Given the description of an element on the screen output the (x, y) to click on. 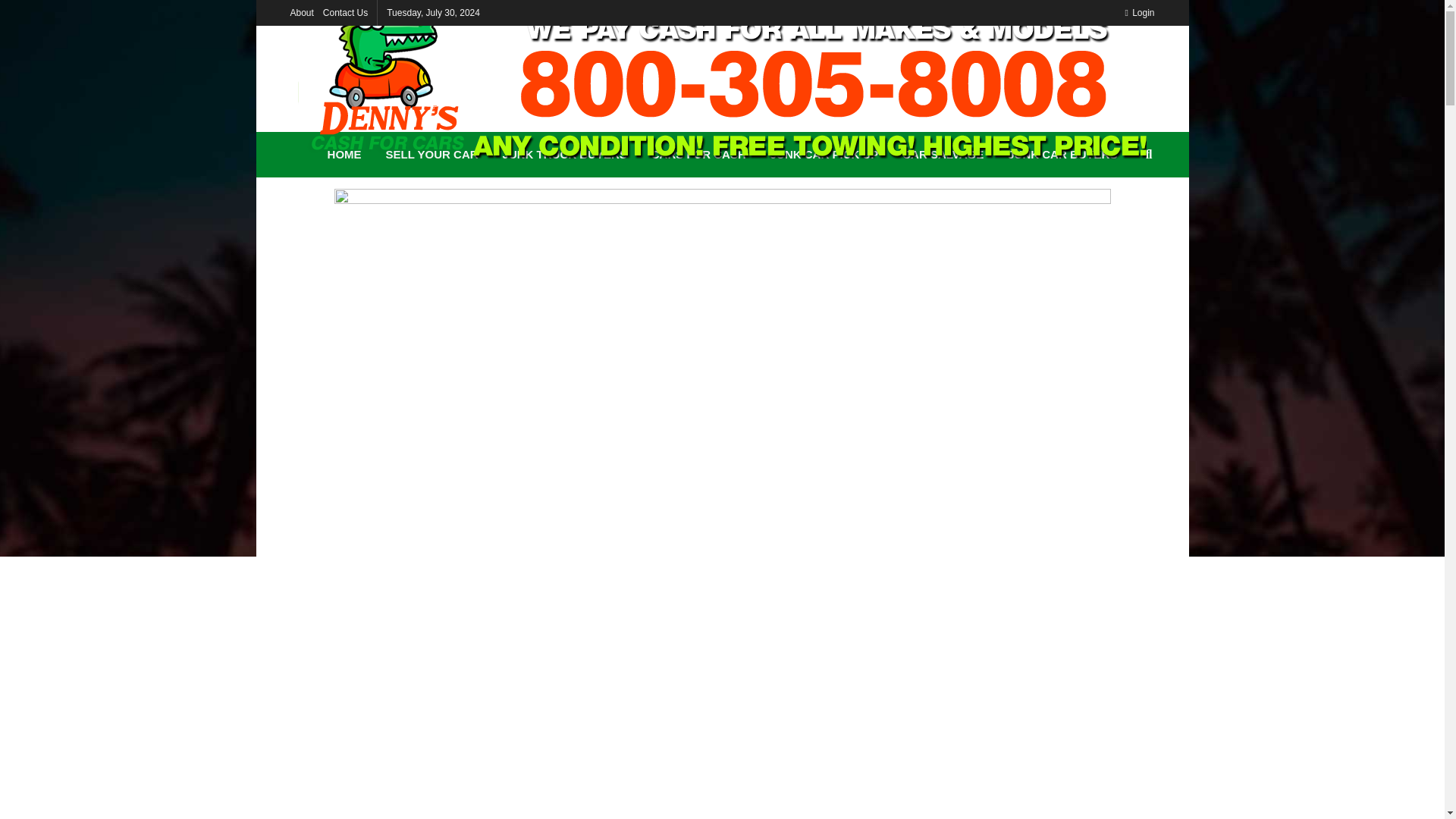
CARS FOR CASH (698, 154)
HOME (344, 154)
JUNK CAR PICK UP (824, 154)
SELL YOUR CAR (432, 154)
About (301, 12)
JUNK CAR BUYERS (1062, 154)
Contact Us (345, 12)
CAR SALVAGE (942, 154)
Login (1139, 12)
JUNK TRUCK BUYERS (564, 154)
